Given the description of an element on the screen output the (x, y) to click on. 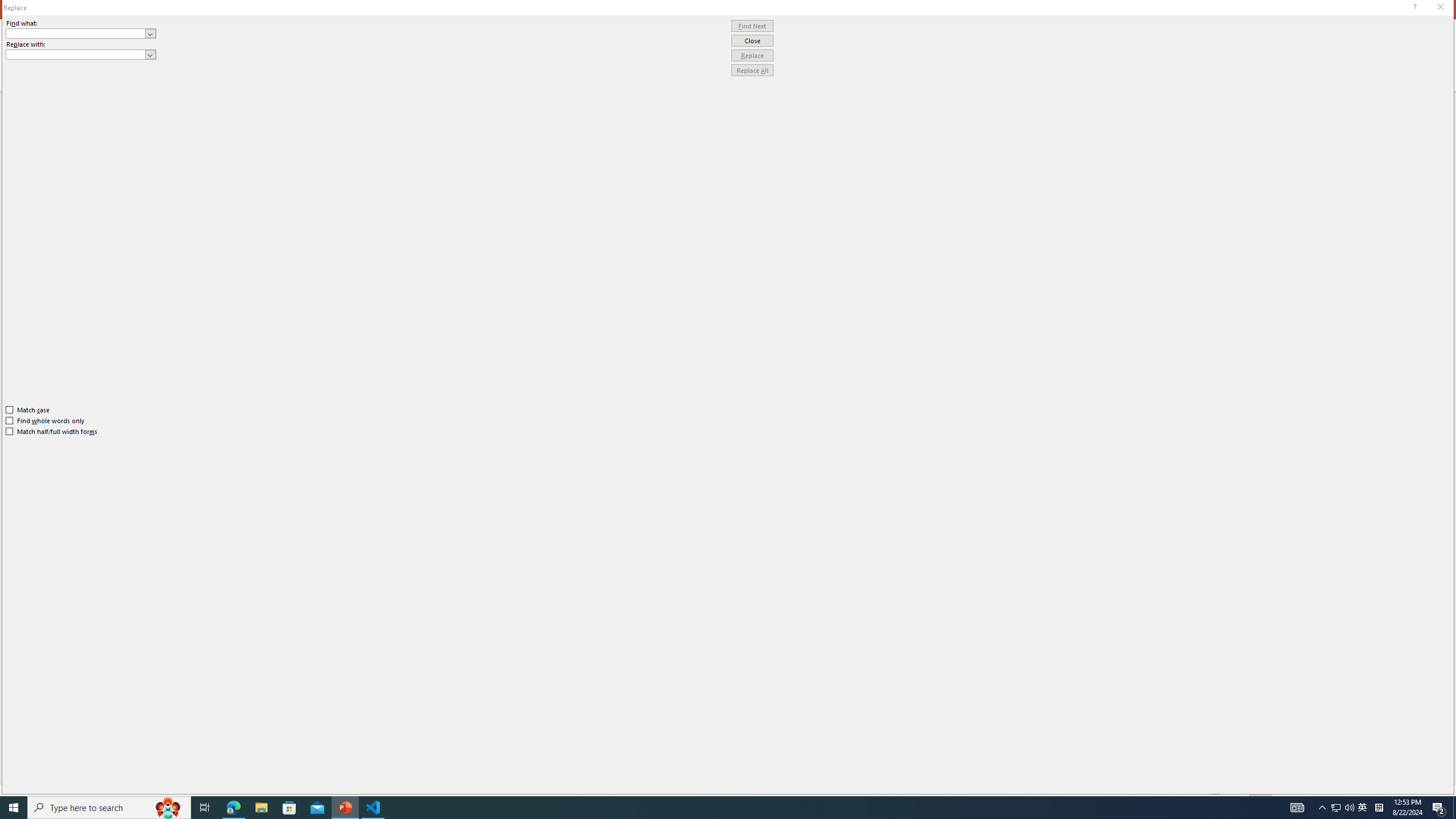
Zoom 150% (1430, 790)
Decorative Locked (752, 579)
Shape Outline Blue, Accent 1 (675, 56)
Replace (752, 55)
